Given the description of an element on the screen output the (x, y) to click on. 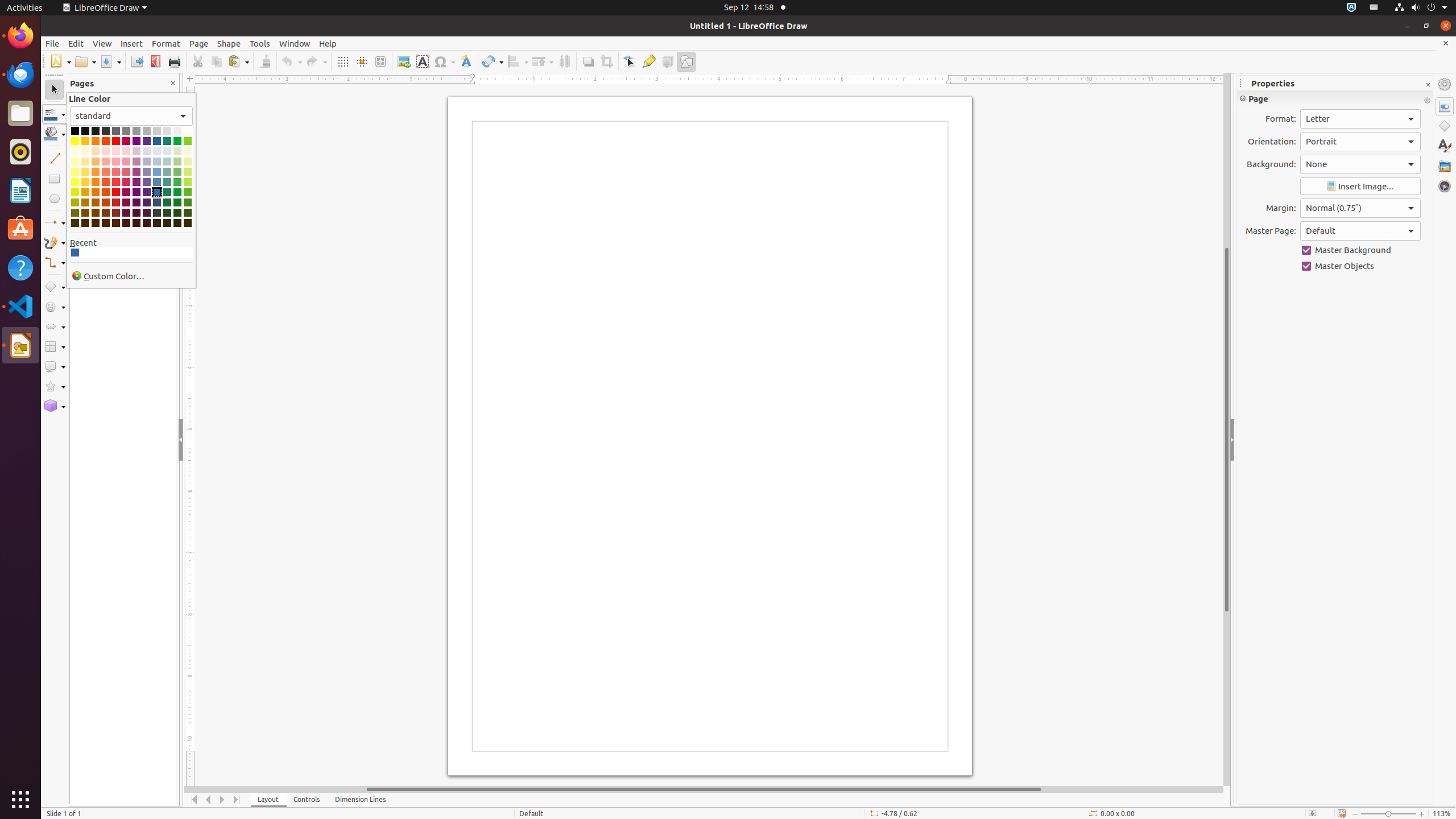
Line Color Element type: push-button (54, 113)
Light Teal 3 Element type: list-item (167, 161)
Light Yellow 1 Element type: list-item (74, 181)
Light Gold 4 Element type: list-item (85, 151)
Print Element type: push-button (173, 61)
